Given the description of an element on the screen output the (x, y) to click on. 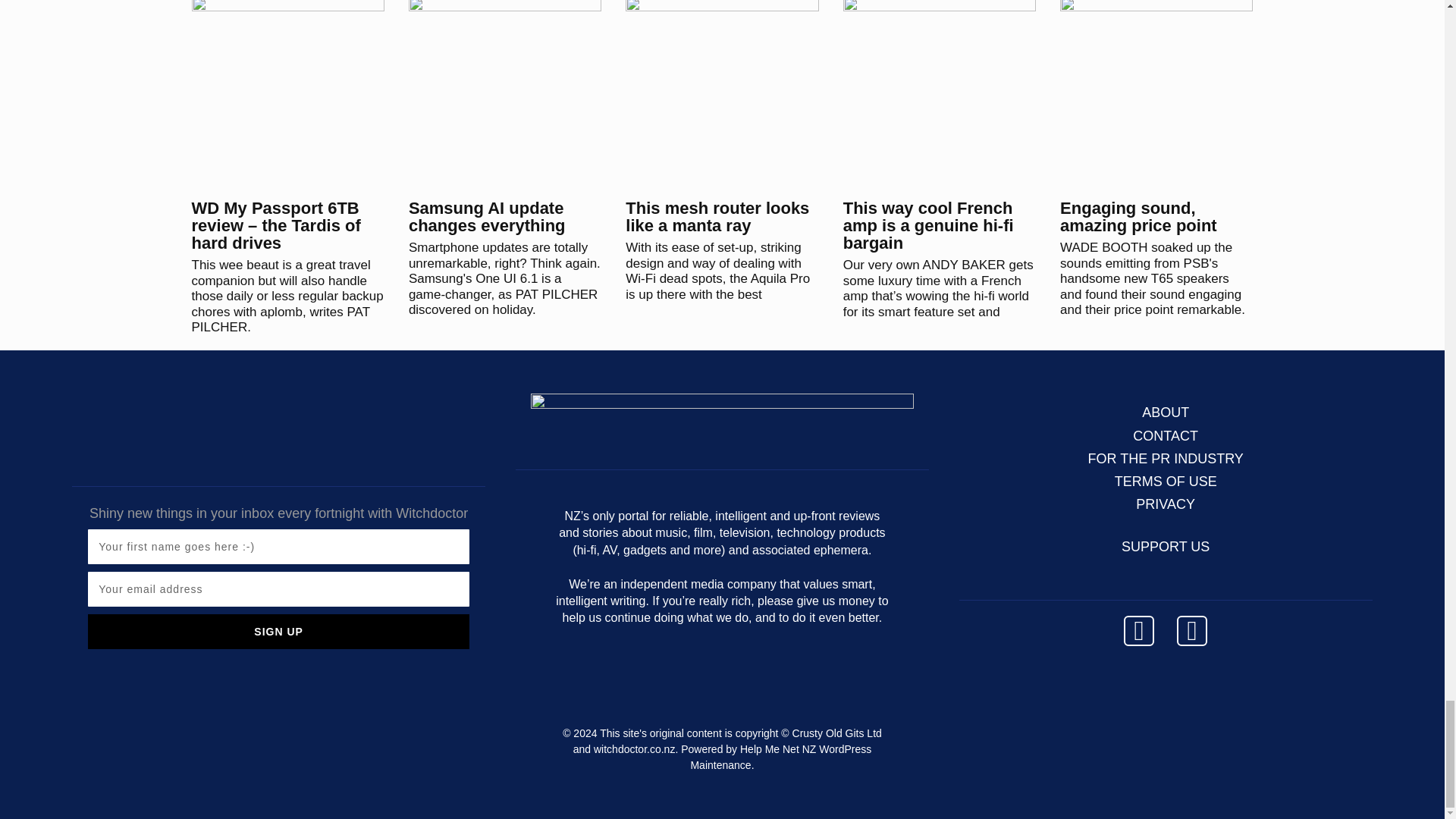
Sign up (277, 631)
